Given the description of an element on the screen output the (x, y) to click on. 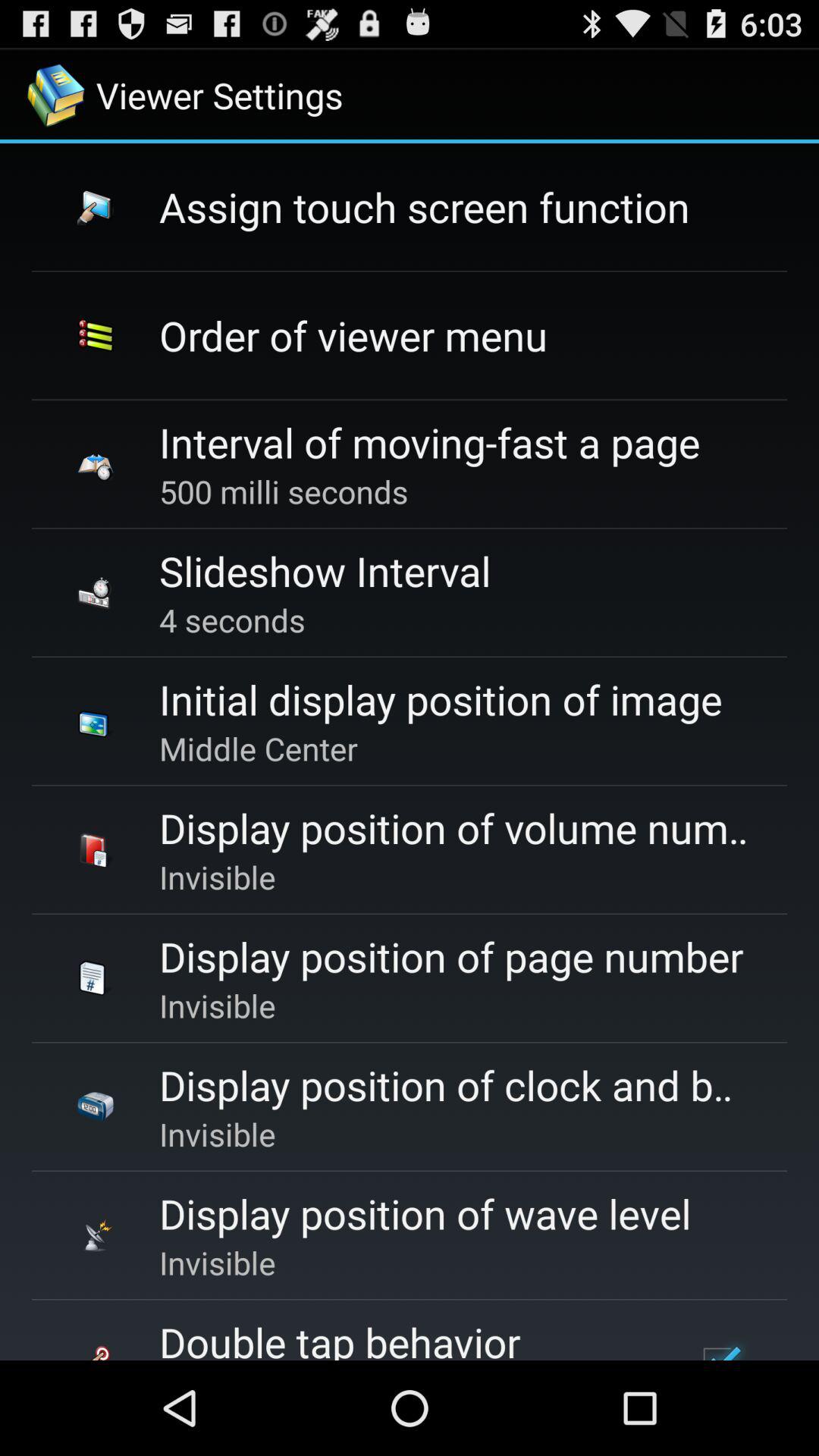
press the 500 milli seconds app (283, 491)
